Given the description of an element on the screen output the (x, y) to click on. 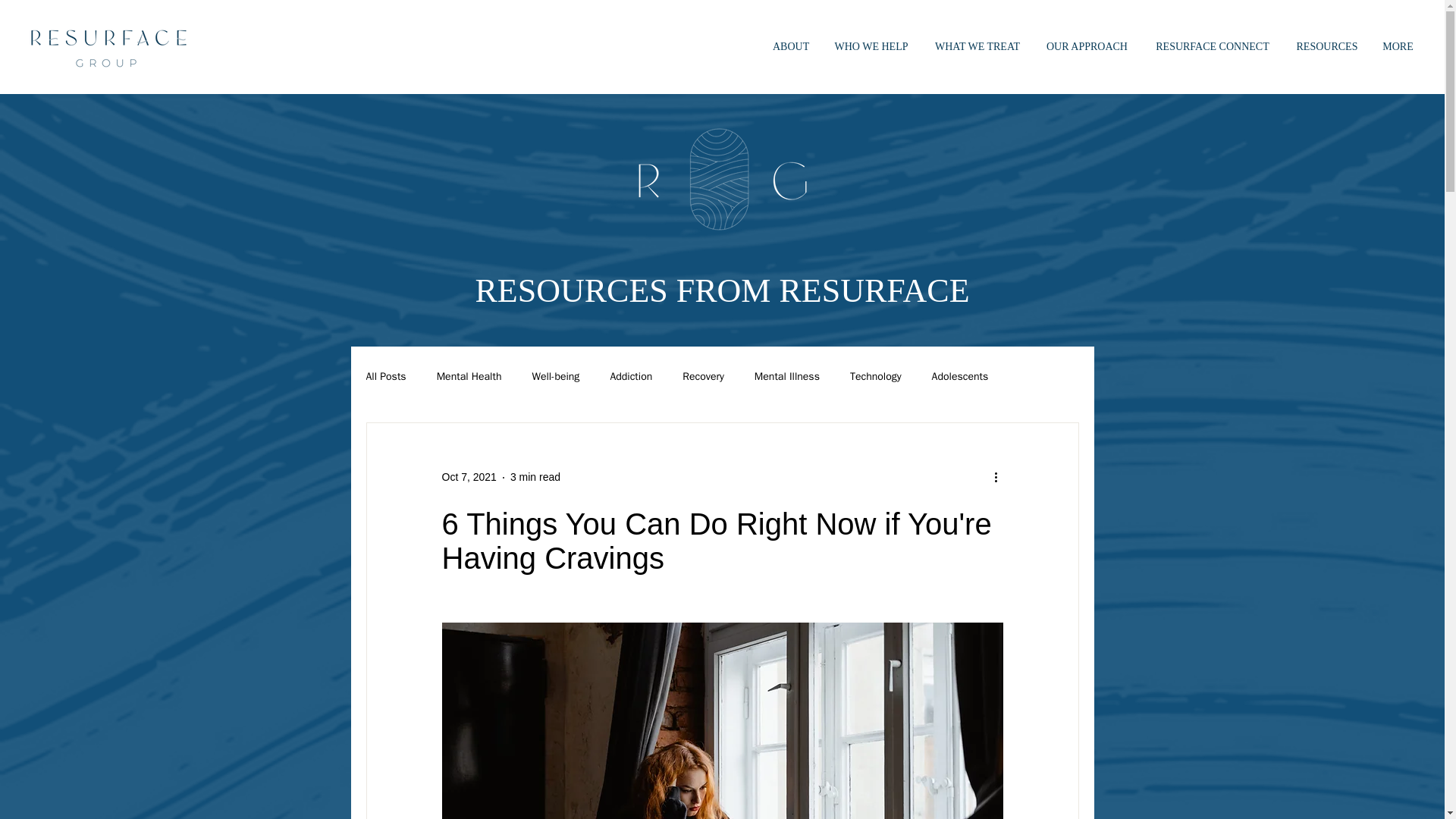
All Posts (385, 377)
RESOURCES (1327, 46)
Mental Health (469, 377)
WHO WE HELP (871, 46)
Addiction (631, 377)
3 min read (535, 476)
Adolescents (959, 377)
RESURFACE CONNECT (1212, 46)
OUR APPROACH (1086, 46)
Well-being (555, 377)
